Given the description of an element on the screen output the (x, y) to click on. 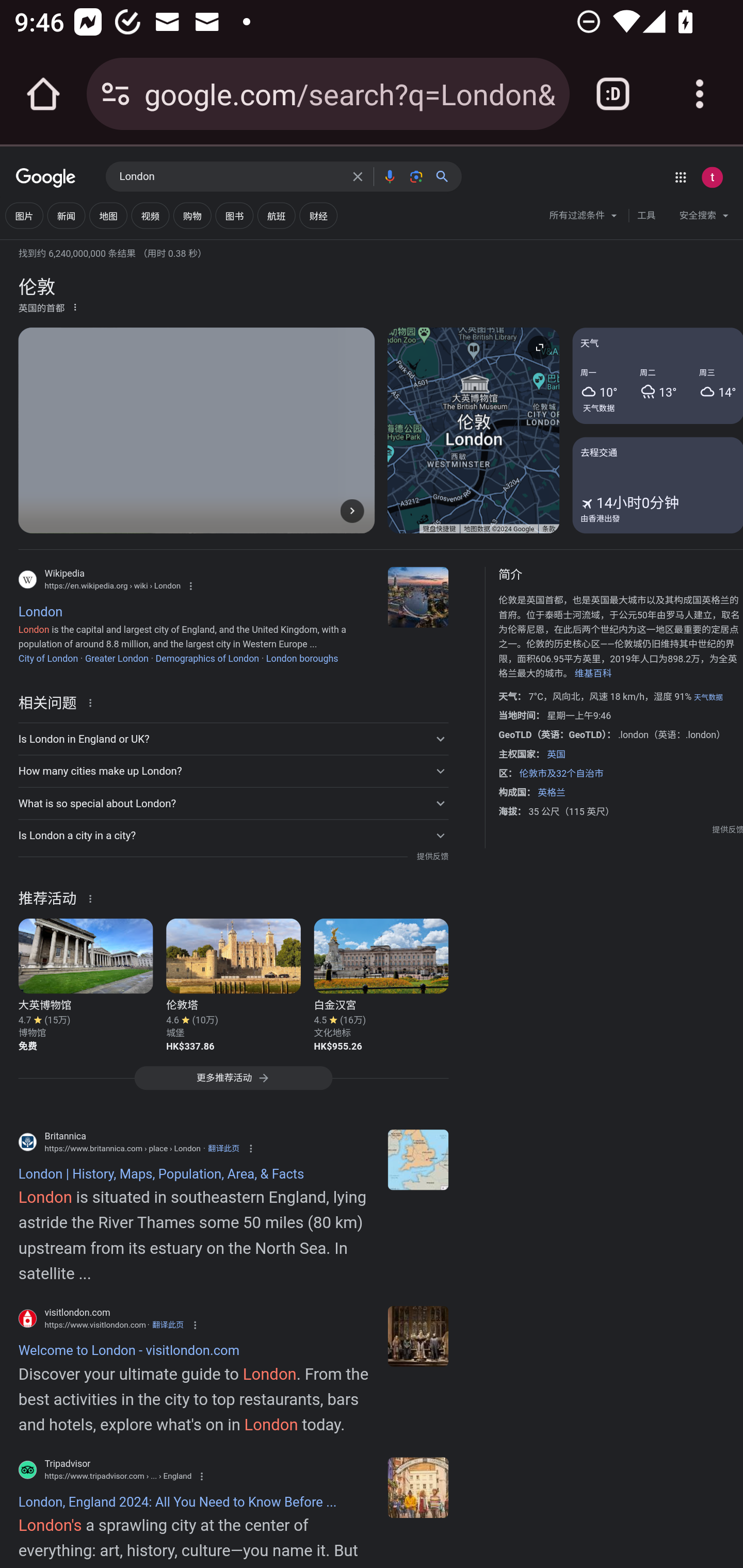
Open the home page (43, 93)
Connection is secure (115, 93)
Switch or close tabs (612, 93)
Customize and control Google Chrome (699, 93)
清除 (357, 176)
按语音搜索 (389, 176)
按图搜索 (415, 176)
搜索 (446, 176)
Google 应用 (680, 176)
Google 账号： test appium (testappium002@gmail.com) (712, 176)
Google (45, 178)
London (229, 177)
图片 (24, 215)
新闻 (65, 215)
地图 (107, 215)
视频 (149, 215)
购物 (191, 215)
图书 (234, 215)
航班 (276, 215)
财经 (318, 215)
所有过滤条件 (583, 217)
工具 (646, 215)
安全搜索 (703, 217)
更多选项 (74, 306)
天气 周一 高温 10 度 周二 高温 13 度 周三 高温 14 度 (657, 375)
展开地图 (539, 346)
天气数据 (599, 407)
去程交通 14小时 乘坐飞机 由香港出發 (657, 484)
下一张图片 (352, 510)
London (417, 597)
City of London (47, 658)
Greater London (115, 658)
Demographics of London (206, 658)
London boroughs (301, 658)
维基百科 (593, 672)
天气数据 (708, 697)
关于这条结果的详细信息 (93, 701)
Is London in England or UK? (232, 738)
英国 (555, 753)
How many cities make up London? (232, 770)
伦敦市及32个自治市 (561, 772)
英格兰 (551, 792)
What is so special about London? (232, 803)
Is London a city in a city? (232, 835)
提供反馈 (727, 829)
提供反馈 (432, 856)
关于这条结果的详细信息 (93, 897)
更多推荐活动 (232, 1082)
London (417, 1159)
翻译此页 (223, 1148)
www.visitlondon (417, 1336)
翻译此页 (167, 1324)
Tourism-g186338-London_England-Vacations (417, 1486)
